Given the description of an element on the screen output the (x, y) to click on. 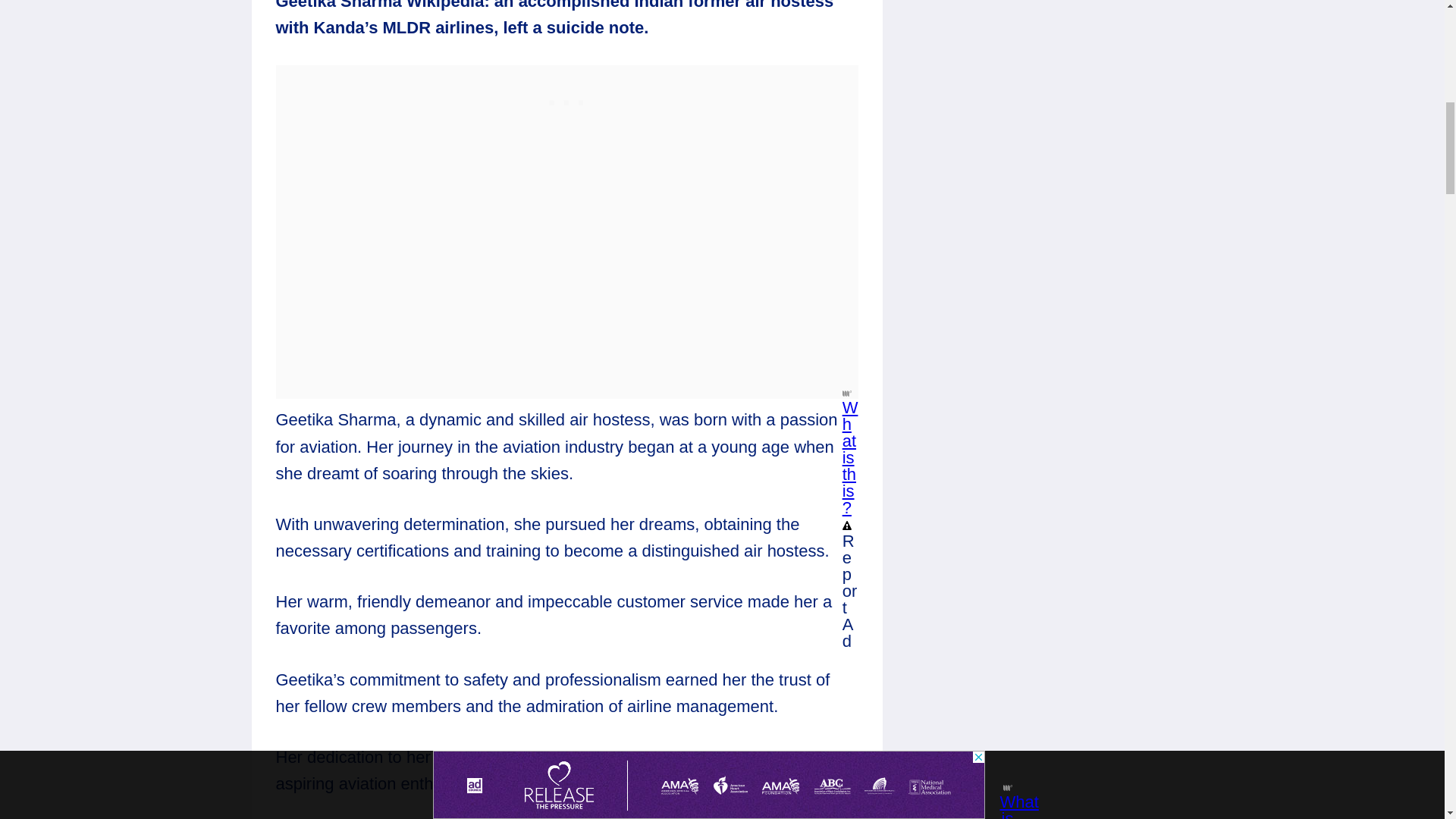
3rd party ad content (567, 99)
